Given the description of an element on the screen output the (x, y) to click on. 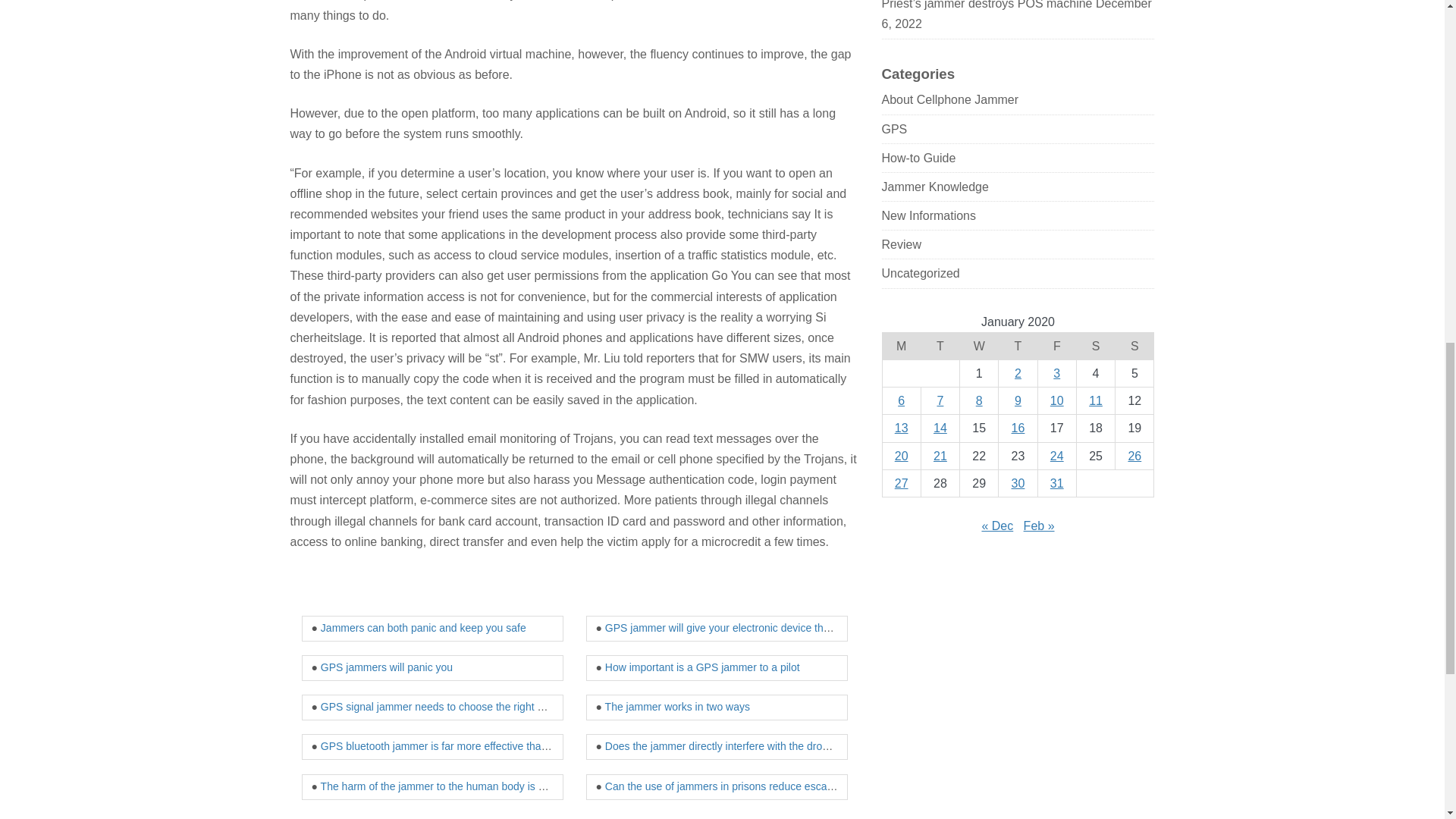
Monday (901, 345)
The harm of the jammer to the human body is not big (445, 786)
Thursday (1017, 345)
Friday (1055, 345)
Jammers can both panic and keep you safe (422, 627)
GPS jammers will panic you (386, 666)
Can the use of jammers in prisons reduce escape? (724, 786)
Saturday (1095, 345)
GPS signal jammer needs to choose the right one (437, 706)
Can the use of jammers in prisons reduce escape? (724, 786)
The harm of the jammer to the human body is not big (445, 786)
Jammers can both panic and keep you safe (422, 627)
How important is a GPS jammer to a pilot (702, 666)
